Given the description of an element on the screen output the (x, y) to click on. 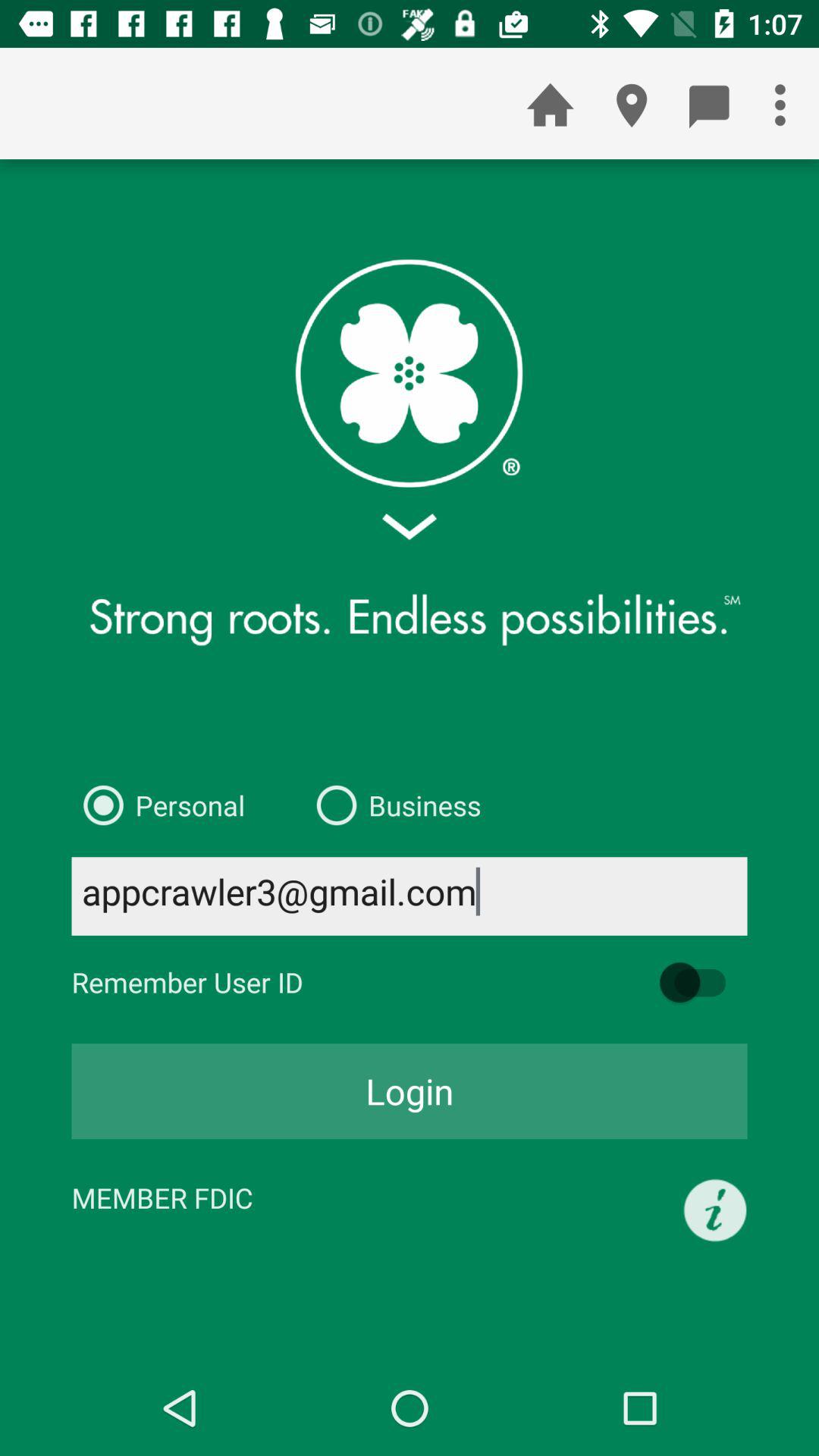
flip until the business item (392, 805)
